Given the description of an element on the screen output the (x, y) to click on. 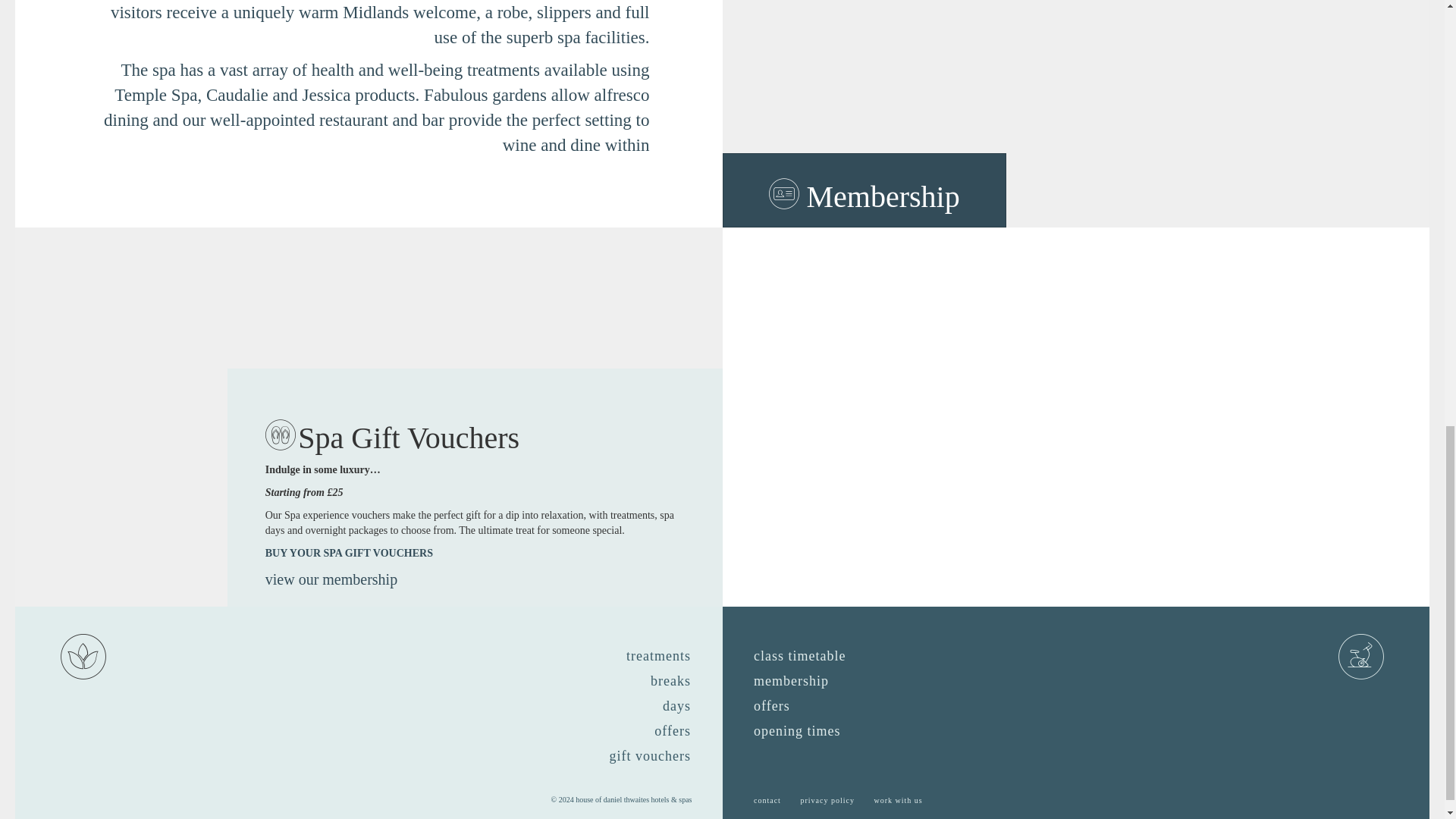
membership (790, 681)
view our membership (330, 579)
gift vouchers (650, 756)
offers (672, 731)
breaks (670, 681)
treatments (658, 656)
privacy policy (826, 801)
days (676, 706)
opening times (796, 731)
offers (771, 706)
class timetable (799, 656)
Membership (864, 190)
BUY YOUR SPA GIFT VOUCHERS (348, 553)
work with us (897, 801)
contact (767, 801)
